Given the description of an element on the screen output the (x, y) to click on. 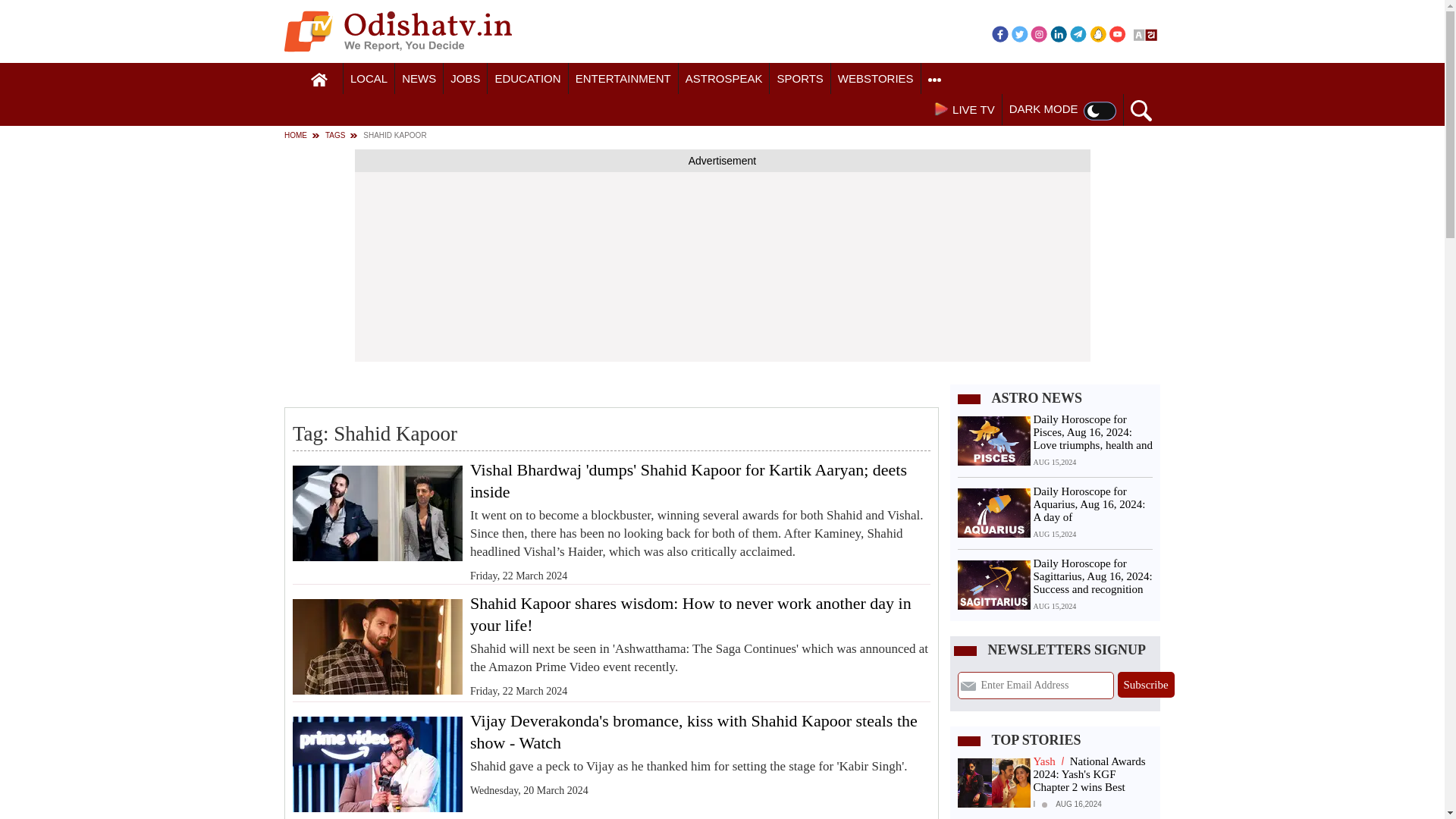
Facebook (1000, 33)
Home Icon (319, 79)
News (418, 78)
Telegram (1078, 33)
Twitter (1019, 33)
EDUCATION (527, 78)
Instagram (1038, 33)
NEWS (418, 78)
OdishaTV (397, 31)
ENTERTAINMENT (623, 78)
